Given the description of an element on the screen output the (x, y) to click on. 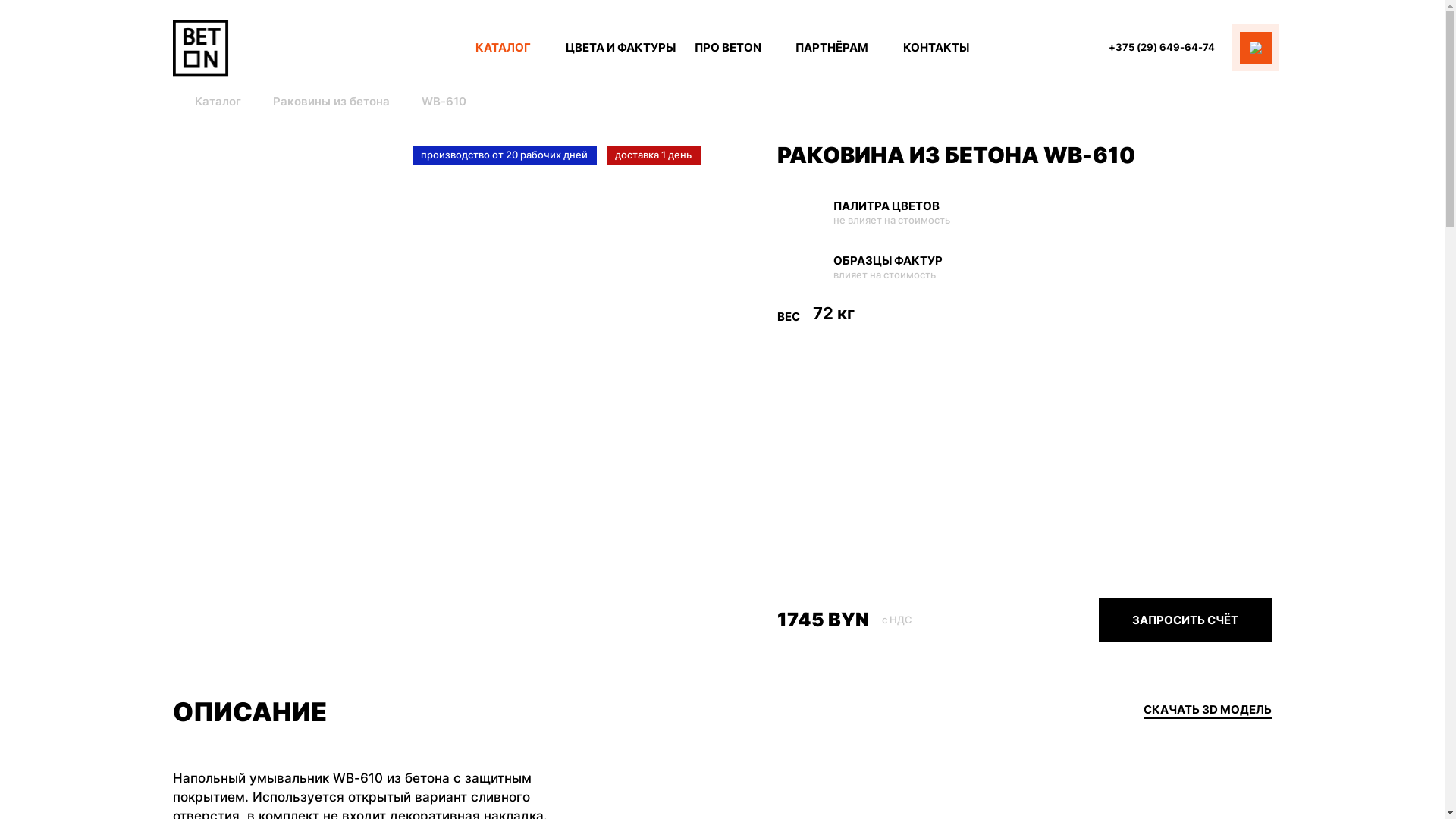
+375 (29) 649-64-74 Element type: text (1161, 47)
WB-610 Element type: text (443, 100)
